Given the description of an element on the screen output the (x, y) to click on. 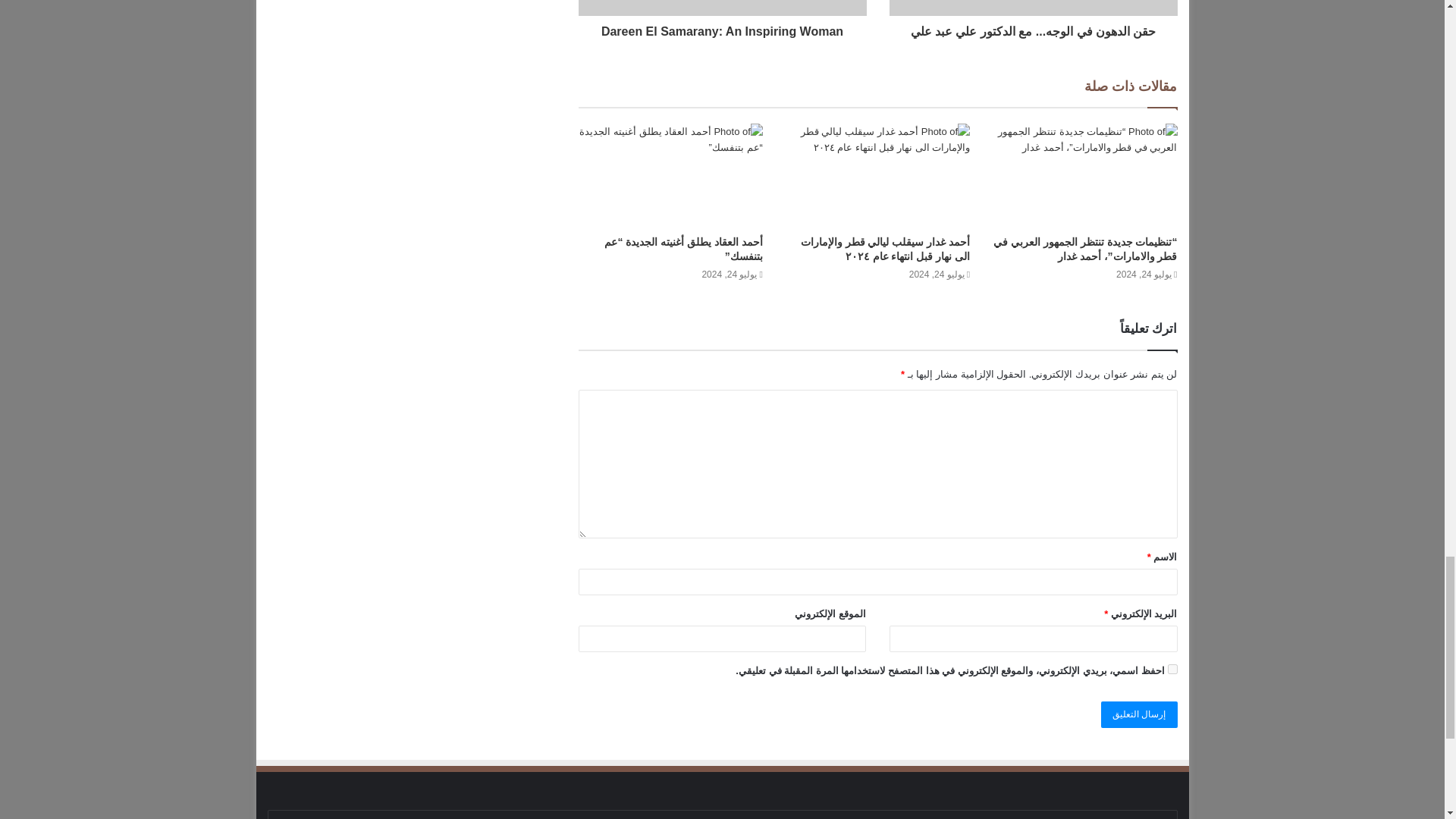
yes (1172, 669)
